Given the description of an element on the screen output the (x, y) to click on. 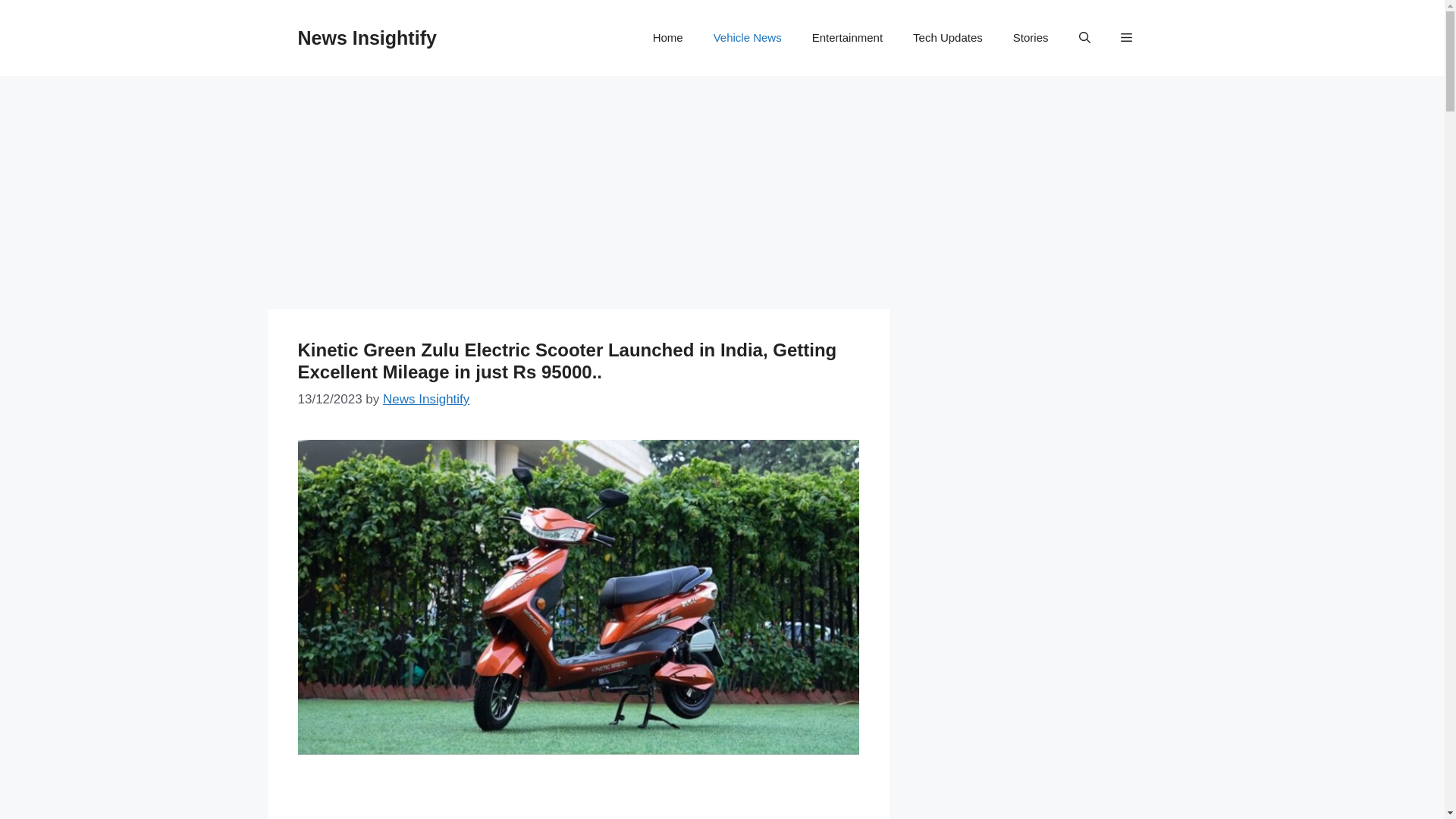
View all posts by News Insightify (425, 399)
Home (667, 37)
Advertisement (577, 196)
Entertainment (847, 37)
News Insightify (366, 37)
News Insightify (425, 399)
Tech Updates (947, 37)
Advertisement (578, 801)
Vehicle News (747, 37)
Stories (1030, 37)
